Given the description of an element on the screen output the (x, y) to click on. 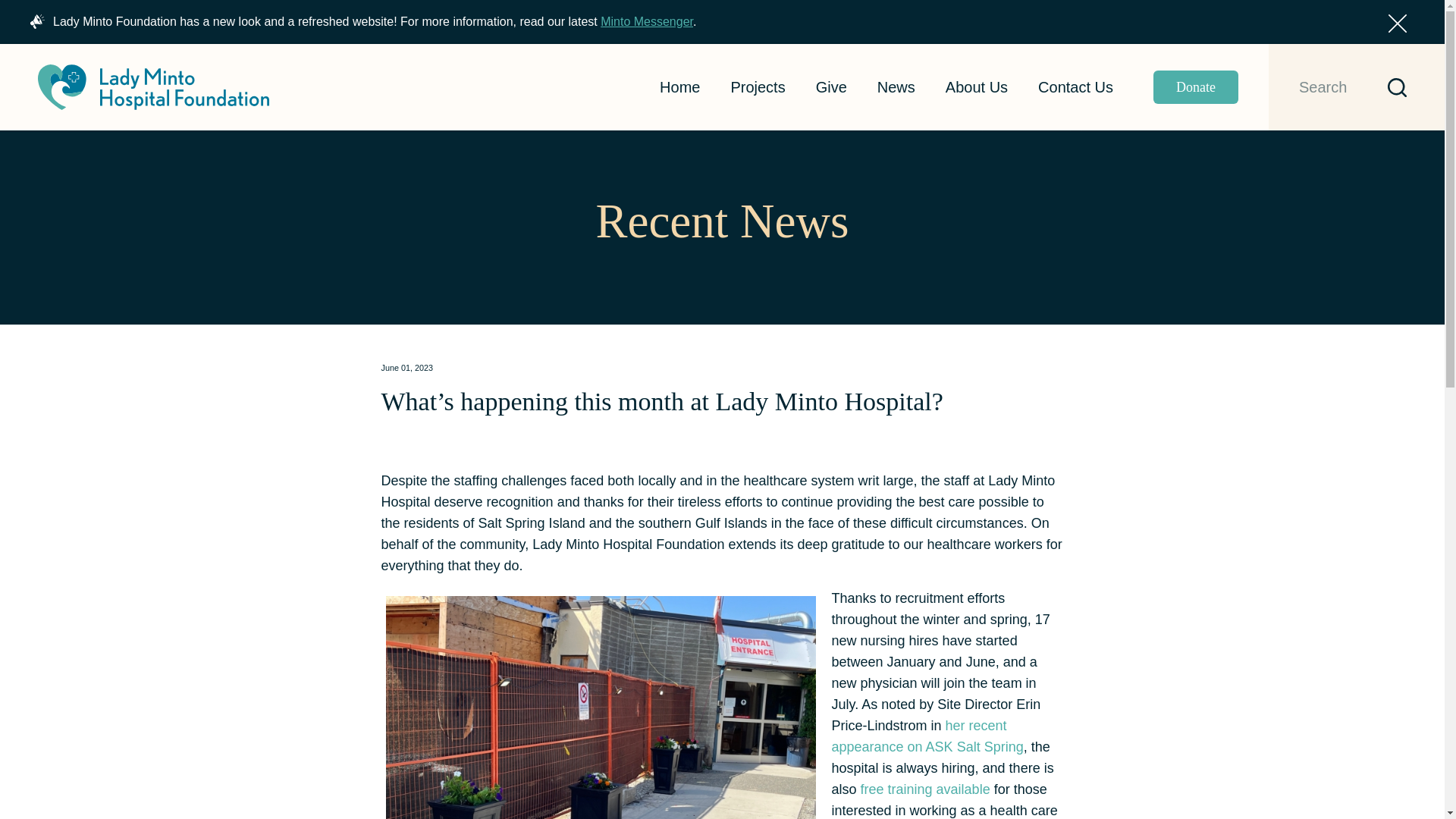
free training available (925, 789)
her recent appearance on ASK Salt Spring (927, 736)
lady-minto-hospital-foundation-logo (153, 87)
x (1397, 23)
Click to start search (1390, 87)
Minto Messenger (646, 21)
Donate (1205, 87)
